Given the description of an element on the screen output the (x, y) to click on. 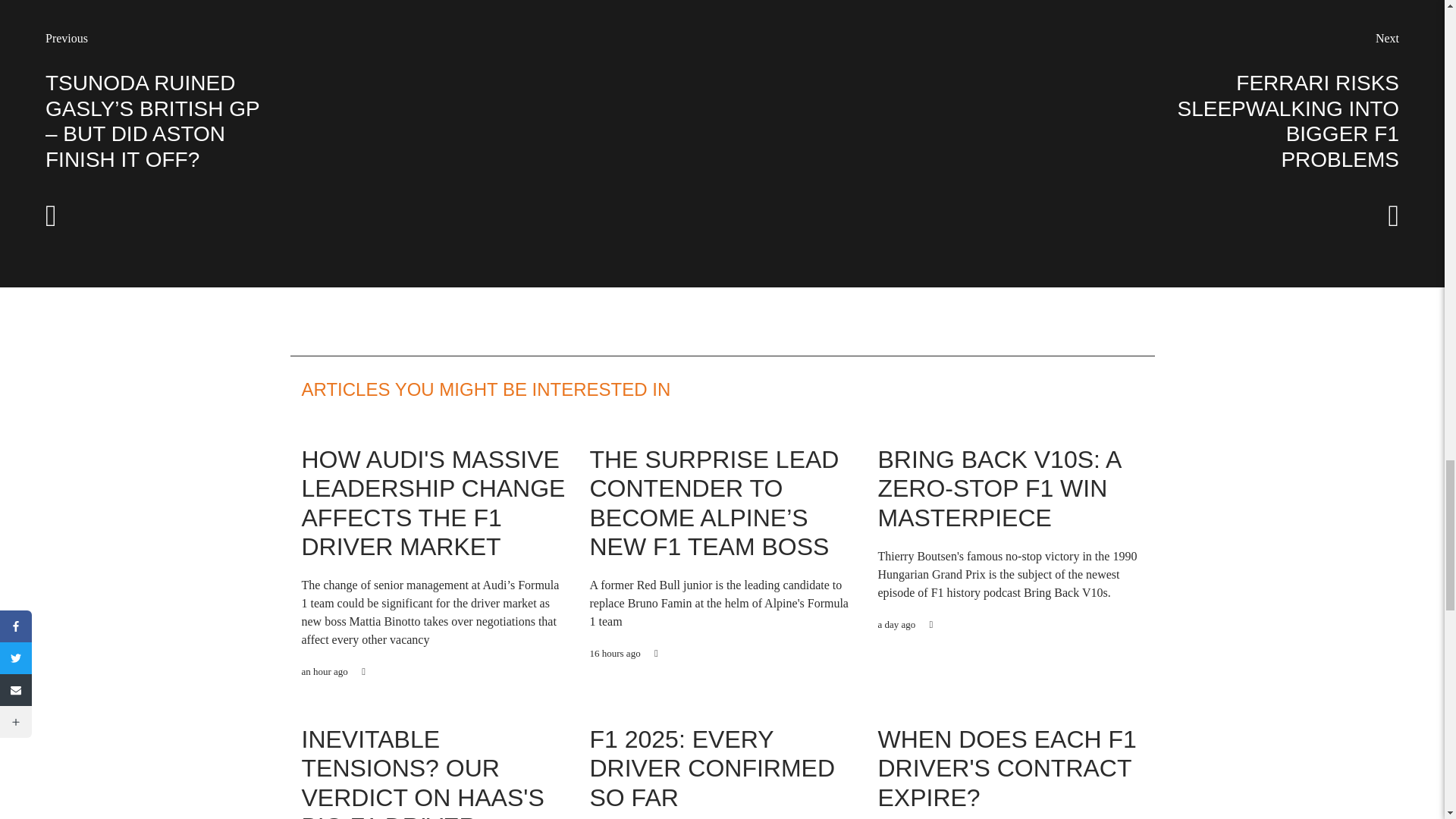
Next (1387, 38)
FERRARI RISKS SLEEPWALKING INTO BIGGER F1 PROBLEMS (1287, 121)
Previous (66, 38)
BRING BACK V10S: A ZERO-STOP F1 WIN MASTERPIECE (998, 488)
